Given the description of an element on the screen output the (x, y) to click on. 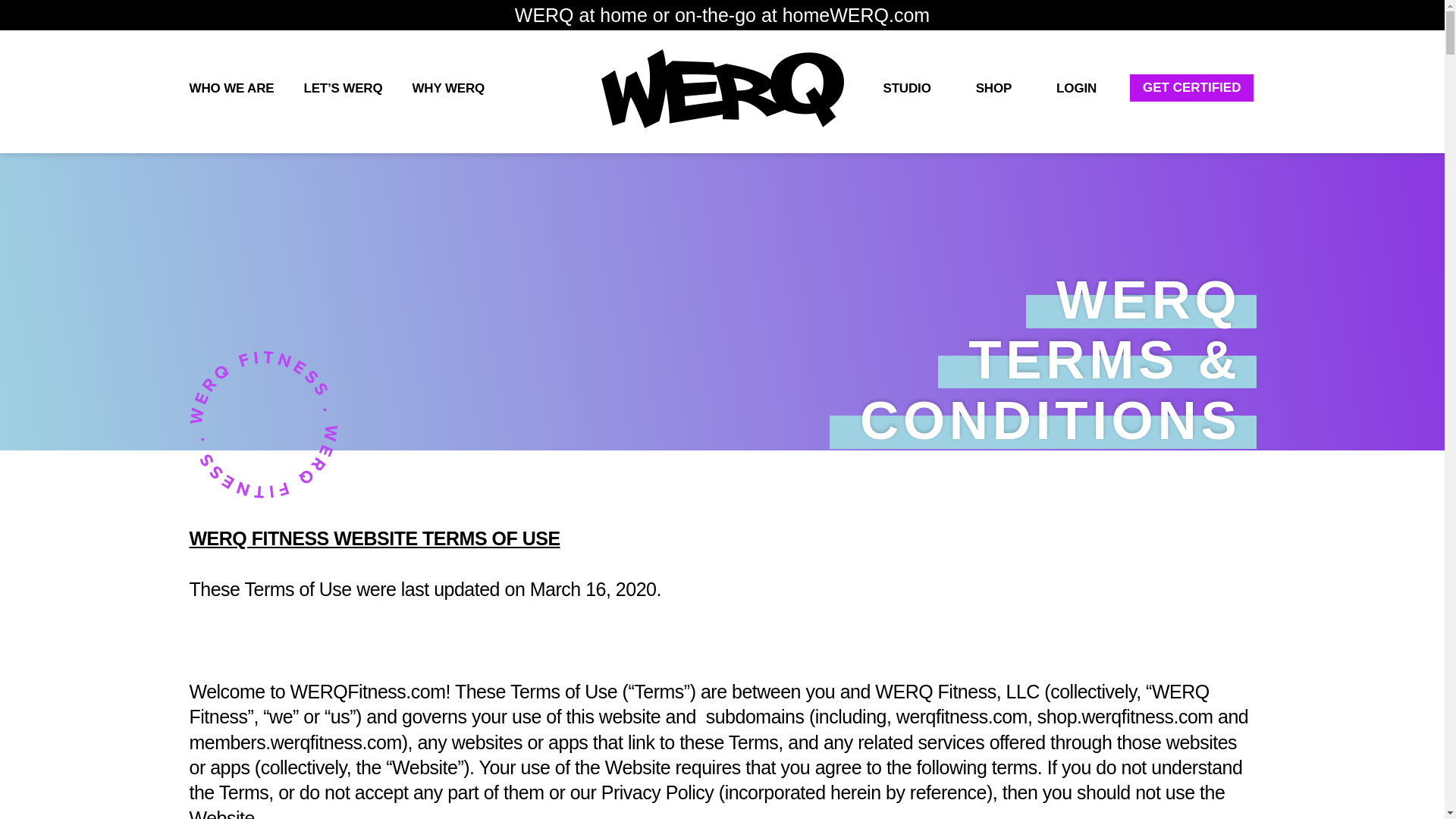
STUDIO (906, 88)
WHY WERQ (448, 88)
SHOP (993, 88)
LOGIN (1076, 88)
WHO WE ARE (231, 88)
GET CERTIFIED (1191, 87)
